Given the description of an element on the screen output the (x, y) to click on. 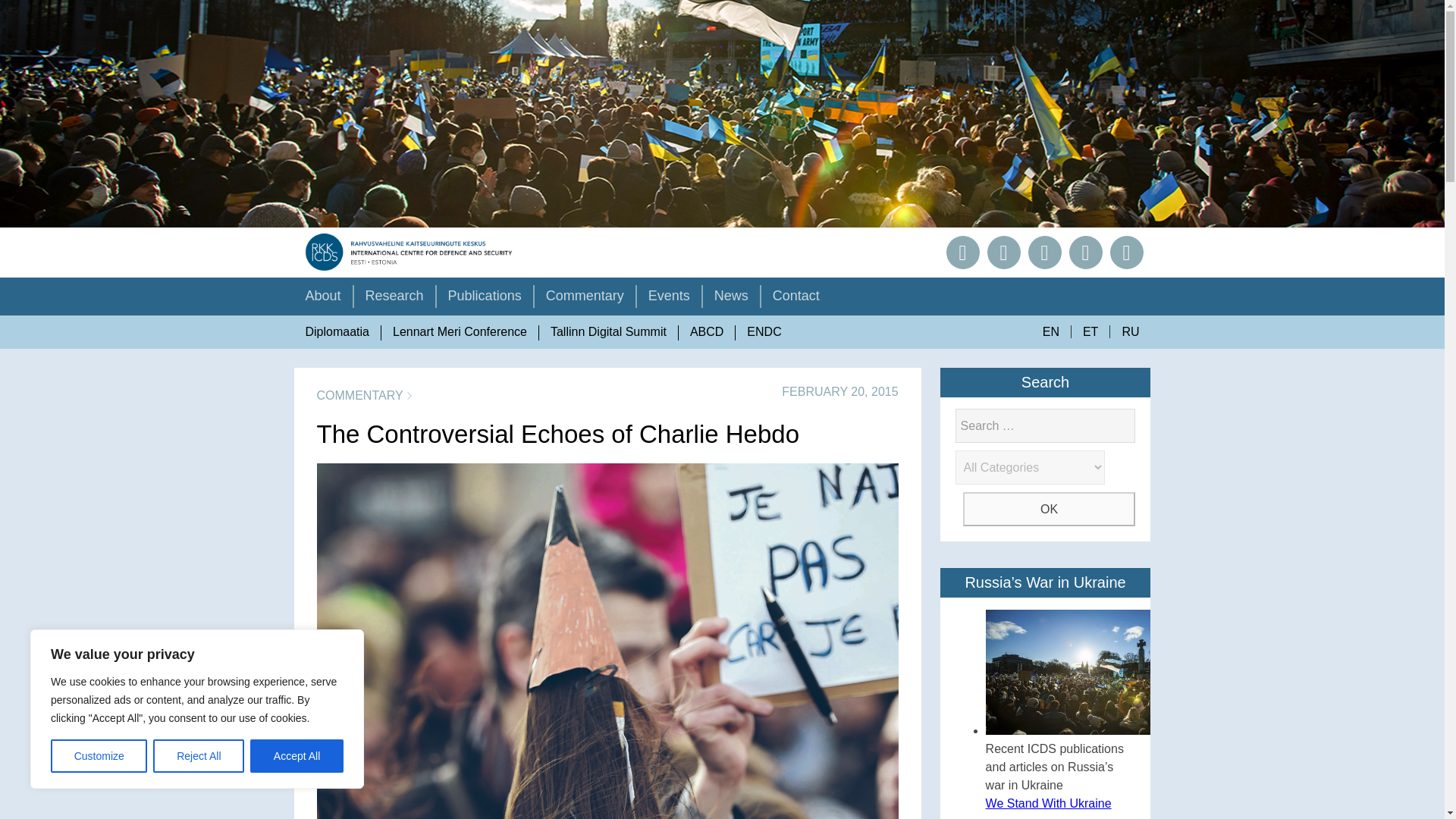
ET (1090, 331)
ENDC (763, 331)
Commentary (584, 300)
EN (1050, 331)
Publications (484, 300)
Diplomaatia (337, 331)
Reject All (198, 756)
Lennart Meri Conference (459, 331)
ABCD (706, 331)
OK (1048, 509)
Contact (796, 300)
Research (394, 300)
Tallinn Digital Summit (608, 331)
Customize (98, 756)
News (731, 300)
